Given the description of an element on the screen output the (x, y) to click on. 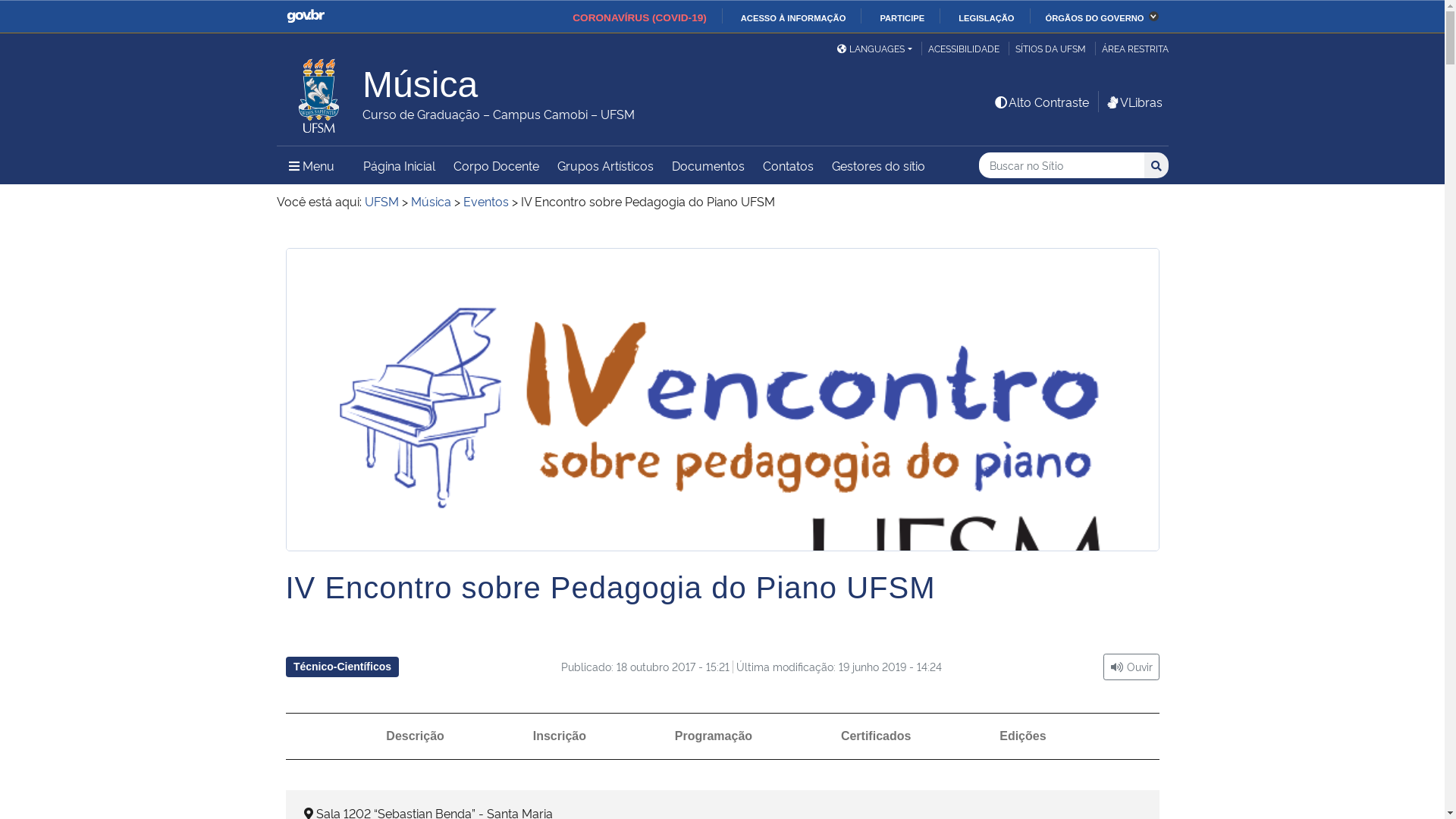
Alto Contraste Element type: text (1040, 101)
Buscar Element type: text (1155, 165)
Logo Element type: hover (722, 456)
Documentos Element type: text (708, 165)
PARTICIPE Element type: text (895, 17)
GOVBR Element type: text (305, 16)
Pesquisar por: Element type: hover (1061, 165)
Logotipo UFSM Element type: hover (319, 91)
Eventos Element type: text (485, 200)
Certificados Element type: text (875, 736)
Contatos Element type: text (788, 165)
VLibras Element type: text (1132, 101)
Corpo Docente Element type: text (495, 165)
LANGUAGES Element type: text (874, 48)
ACESSIBILIDADE Element type: text (962, 48)
UFSM Element type: text (381, 200)
